Given the description of an element on the screen output the (x, y) to click on. 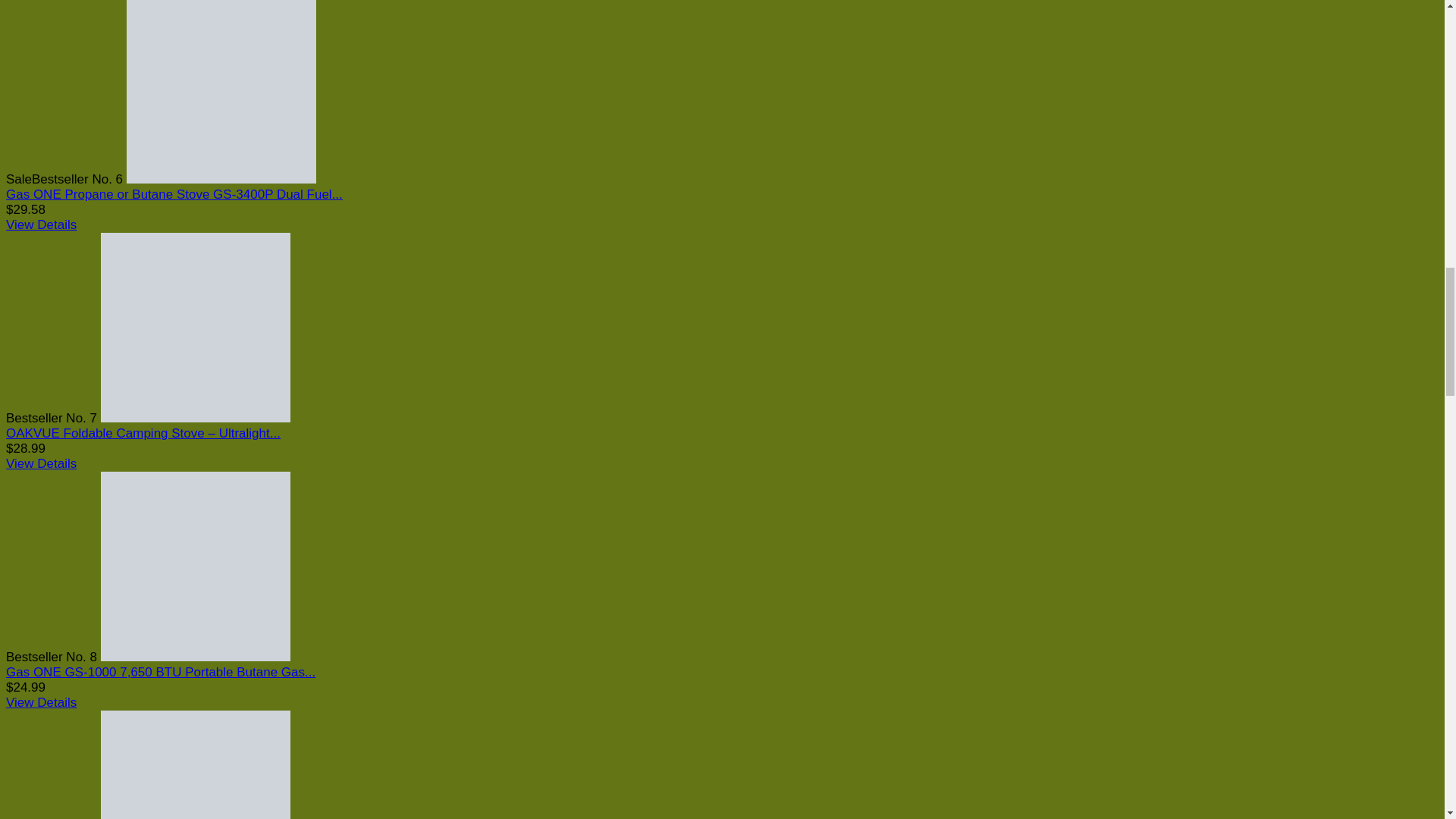
View Details (41, 224)
View Details (41, 463)
Gas ONE Propane or Butane Stove GS-3400P Dual Fuel... (173, 194)
